Given the description of an element on the screen output the (x, y) to click on. 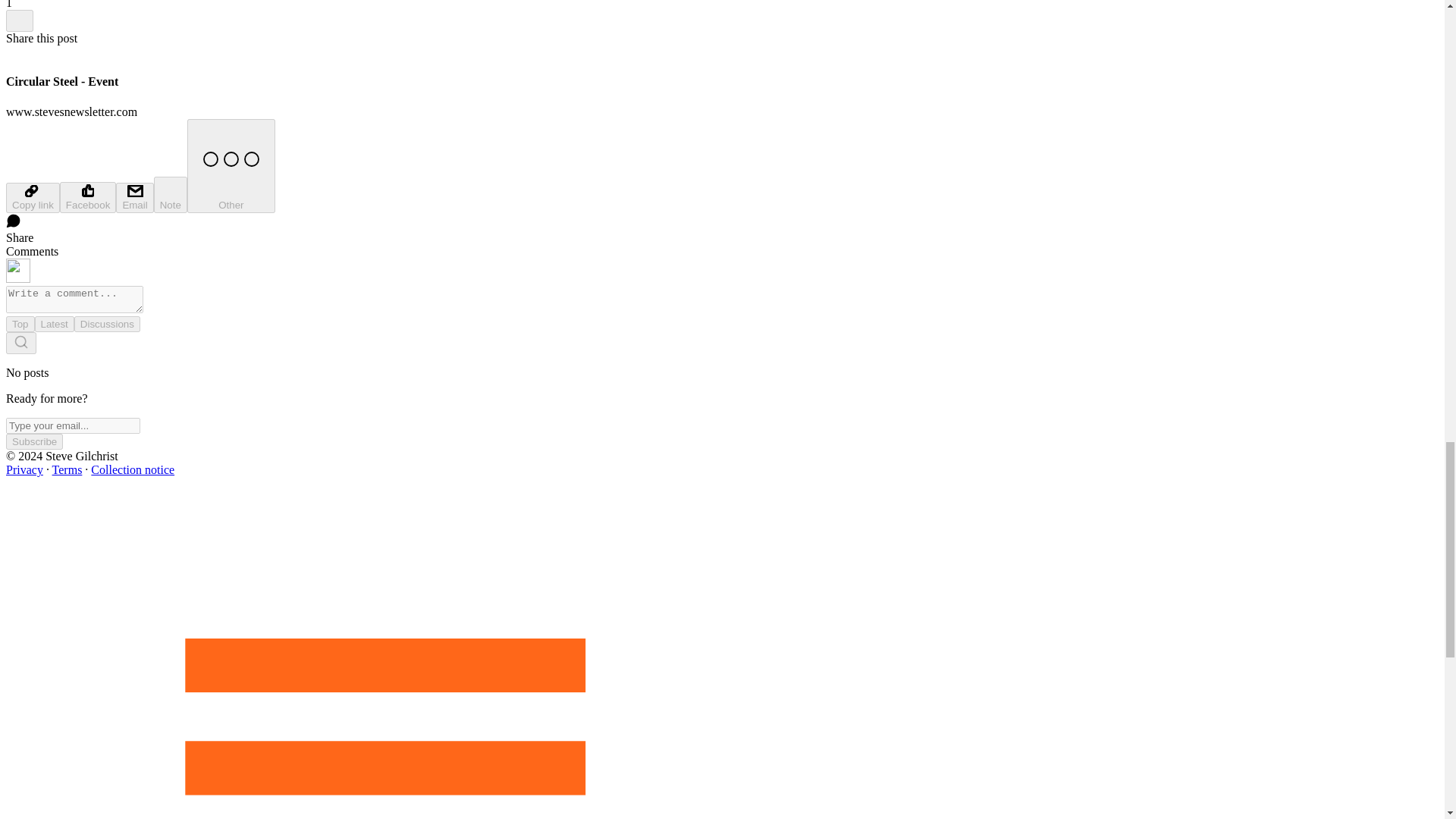
Email (134, 197)
Facebook (87, 196)
Copy link (32, 197)
Note (170, 194)
